Given the description of an element on the screen output the (x, y) to click on. 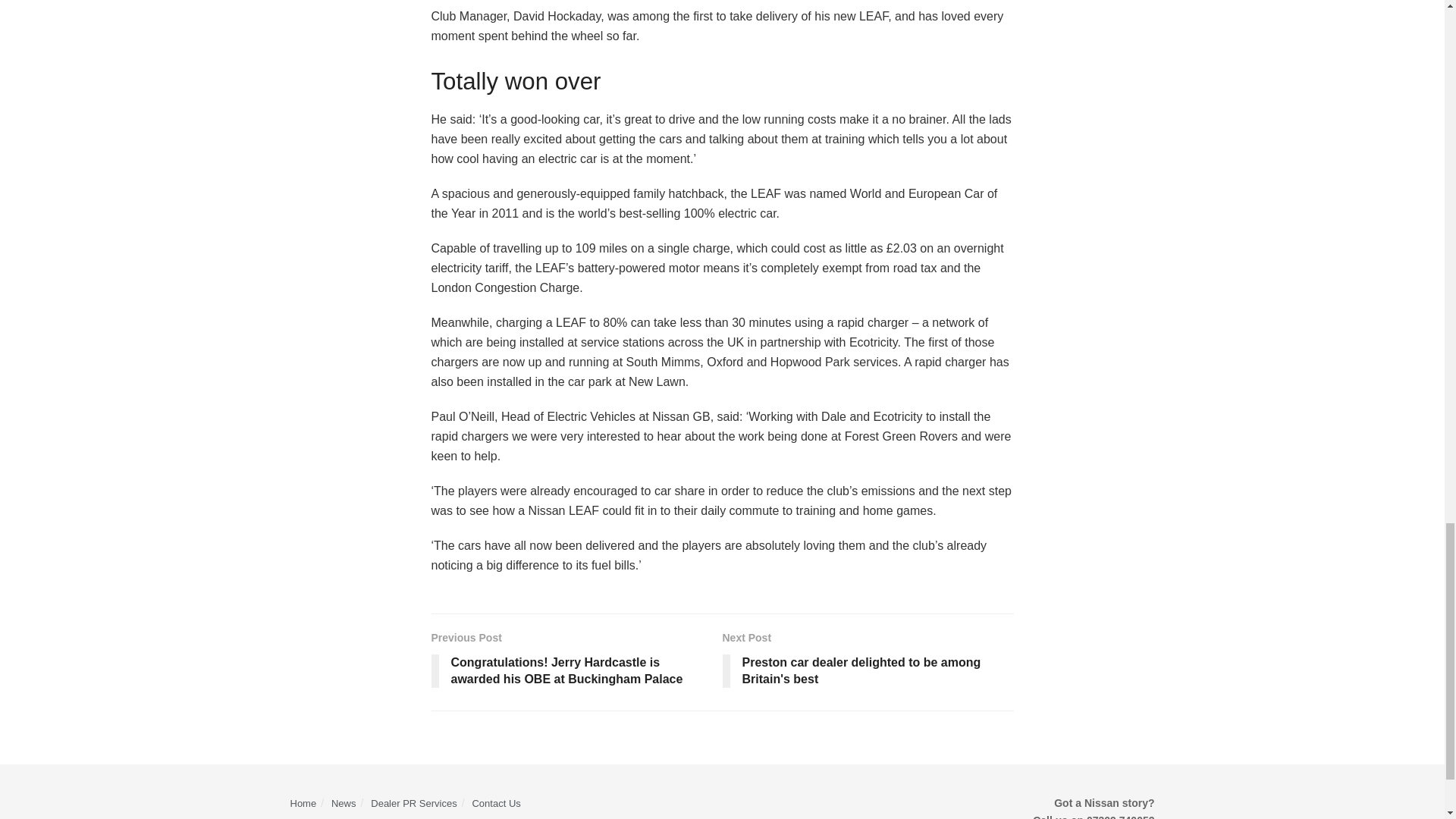
Home (302, 803)
Contact Us (495, 803)
Dealer PR Services (414, 803)
News (343, 803)
